Given the description of an element on the screen output the (x, y) to click on. 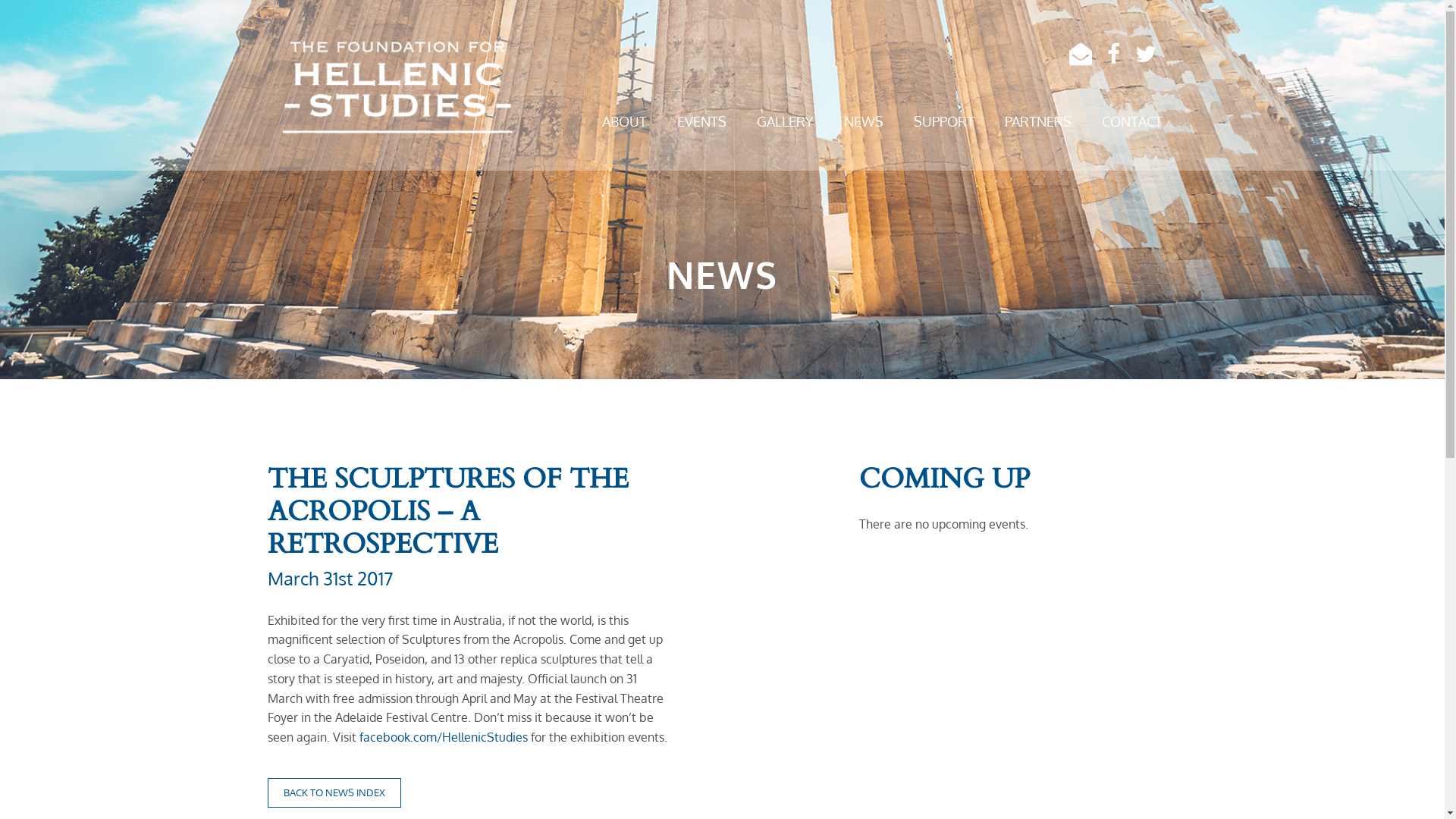
facebook.com/HellenicStudies Element type: text (443, 736)
EVENTS Element type: text (700, 122)
SUPPORT Element type: text (942, 122)
BACK TO NEWS INDEX Element type: text (333, 792)
ABOUT Element type: text (624, 122)
GALLERY Element type: text (784, 122)
CONTACT Element type: text (1130, 122)
NEWS Element type: text (862, 122)
PARTNERS Element type: text (1036, 122)
